Given the description of an element on the screen output the (x, y) to click on. 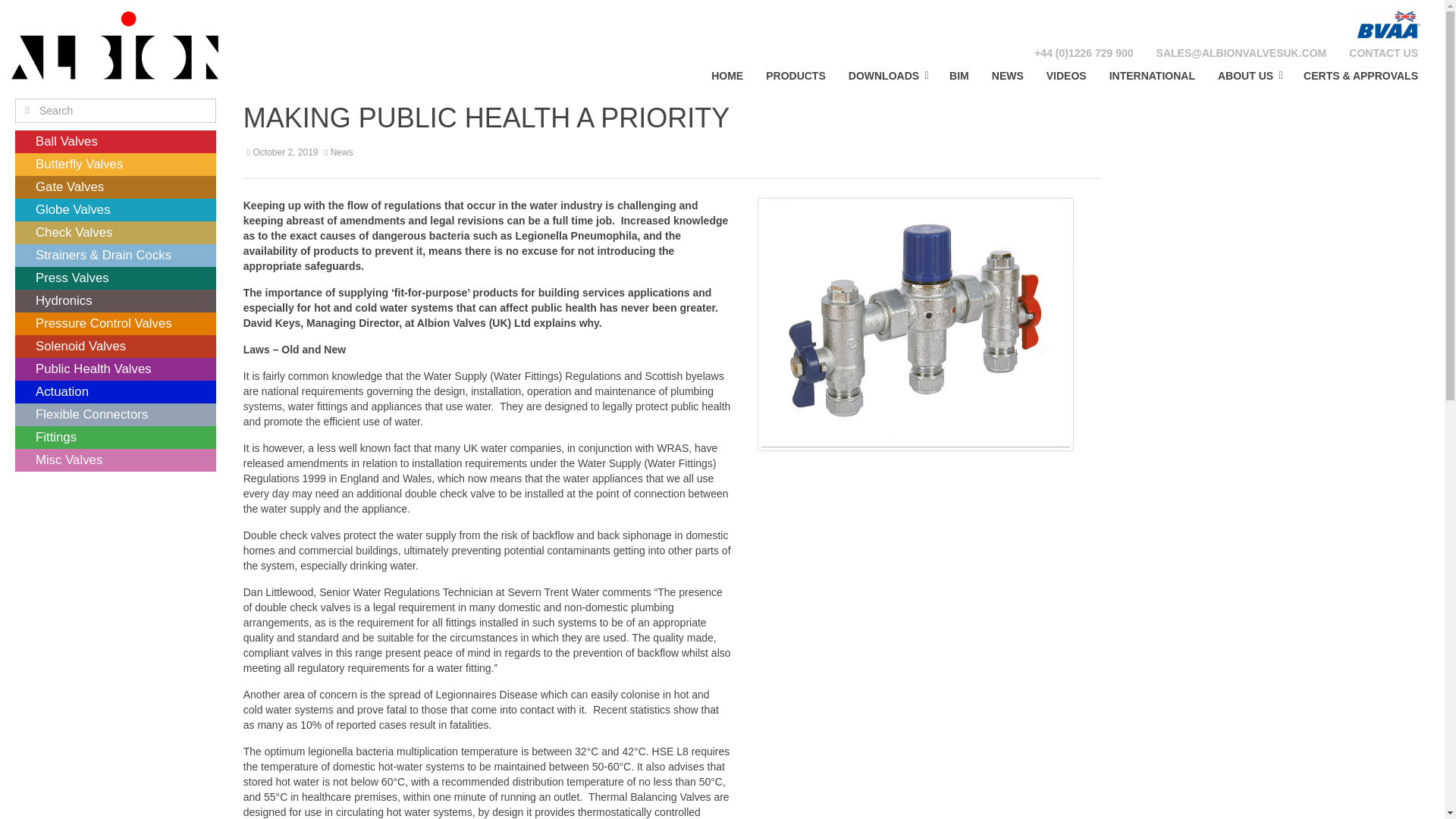
ABOUT US (1249, 75)
INTERNATIONAL (1152, 75)
VIDEOS (1066, 75)
PRODUCTS (795, 75)
NEWS (1007, 75)
CONTACT US (1383, 52)
HOME (727, 75)
BIM (958, 75)
DOWNLOADS (887, 75)
